Given the description of an element on the screen output the (x, y) to click on. 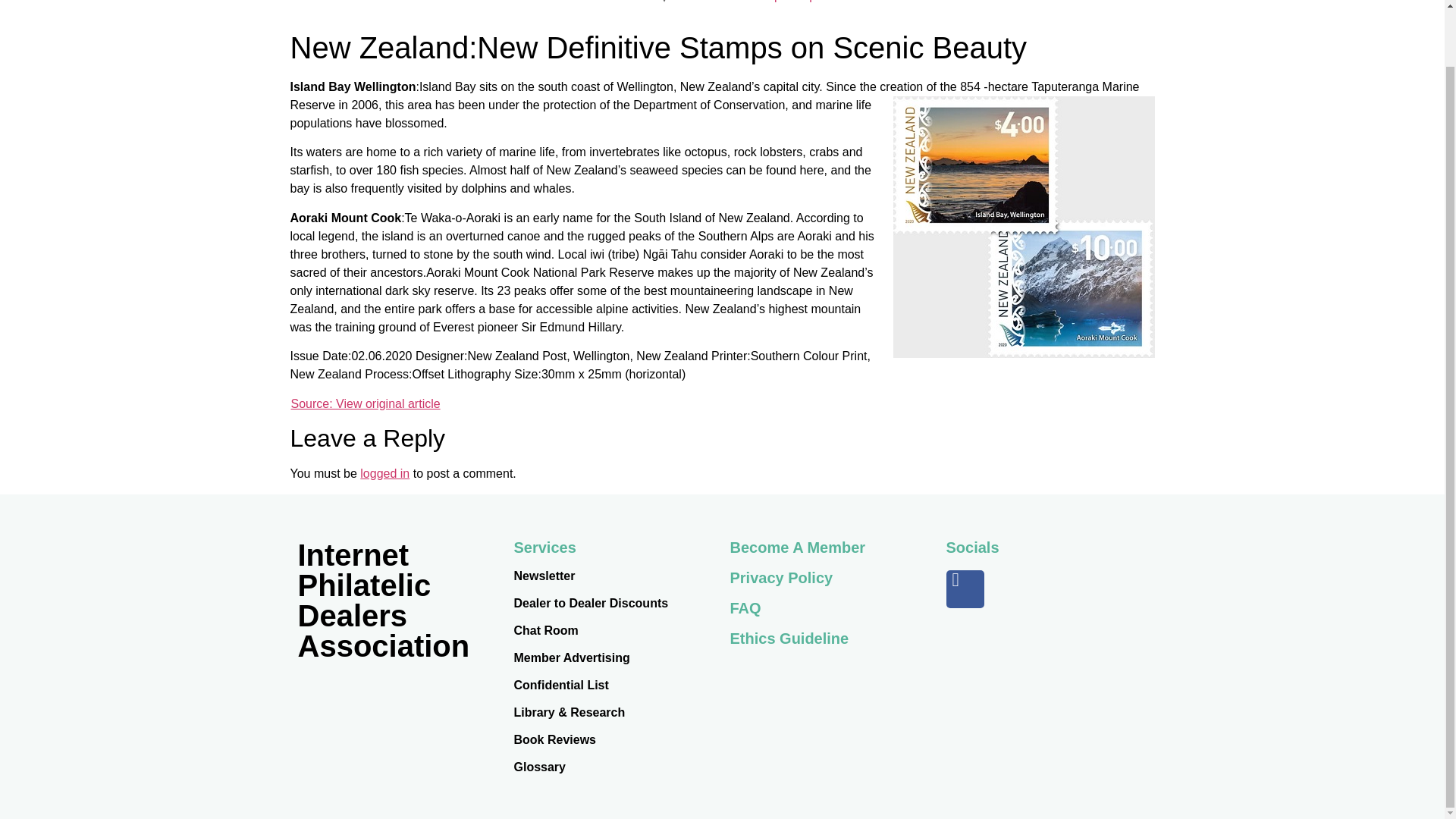
Contact Us (709, 5)
HipStamp and the IPDA (826, 5)
